Given the description of an element on the screen output the (x, y) to click on. 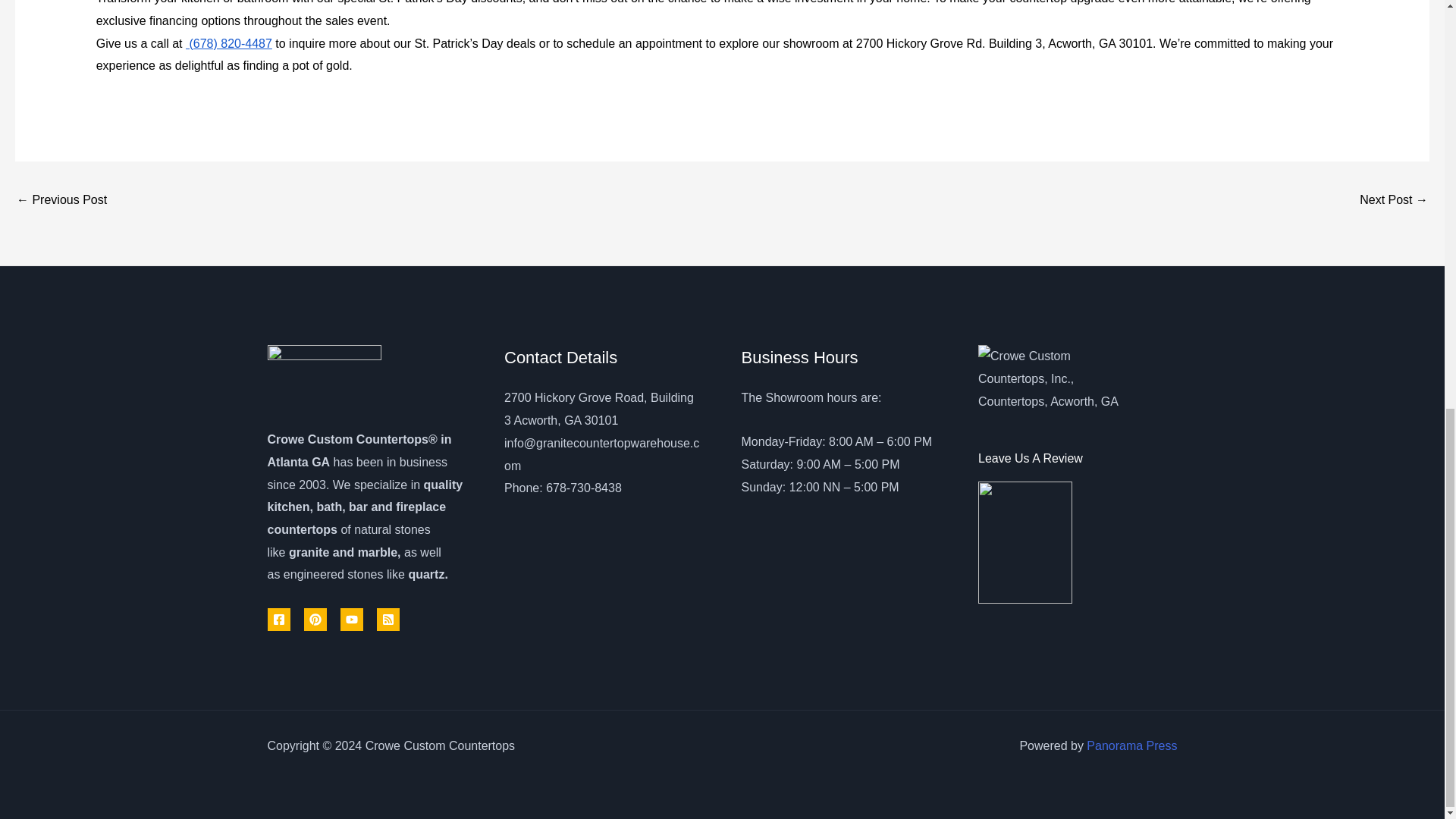
Crowe Custom Countertops, Inc., Countertops, Acworth, GA (1053, 378)
